Given the description of an element on the screen output the (x, y) to click on. 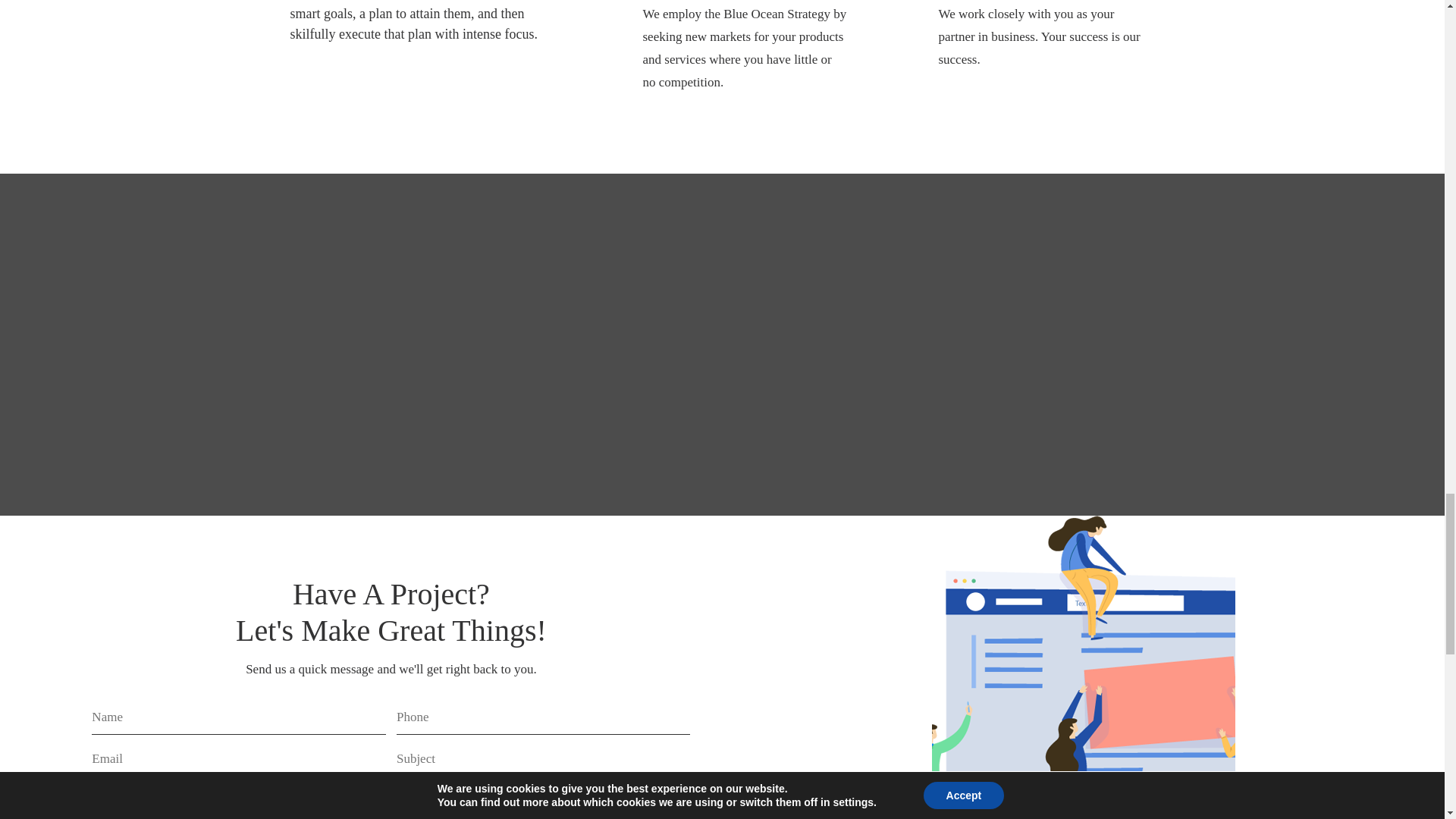
Award-Winning (1082, 667)
